Given the description of an element on the screen output the (x, y) to click on. 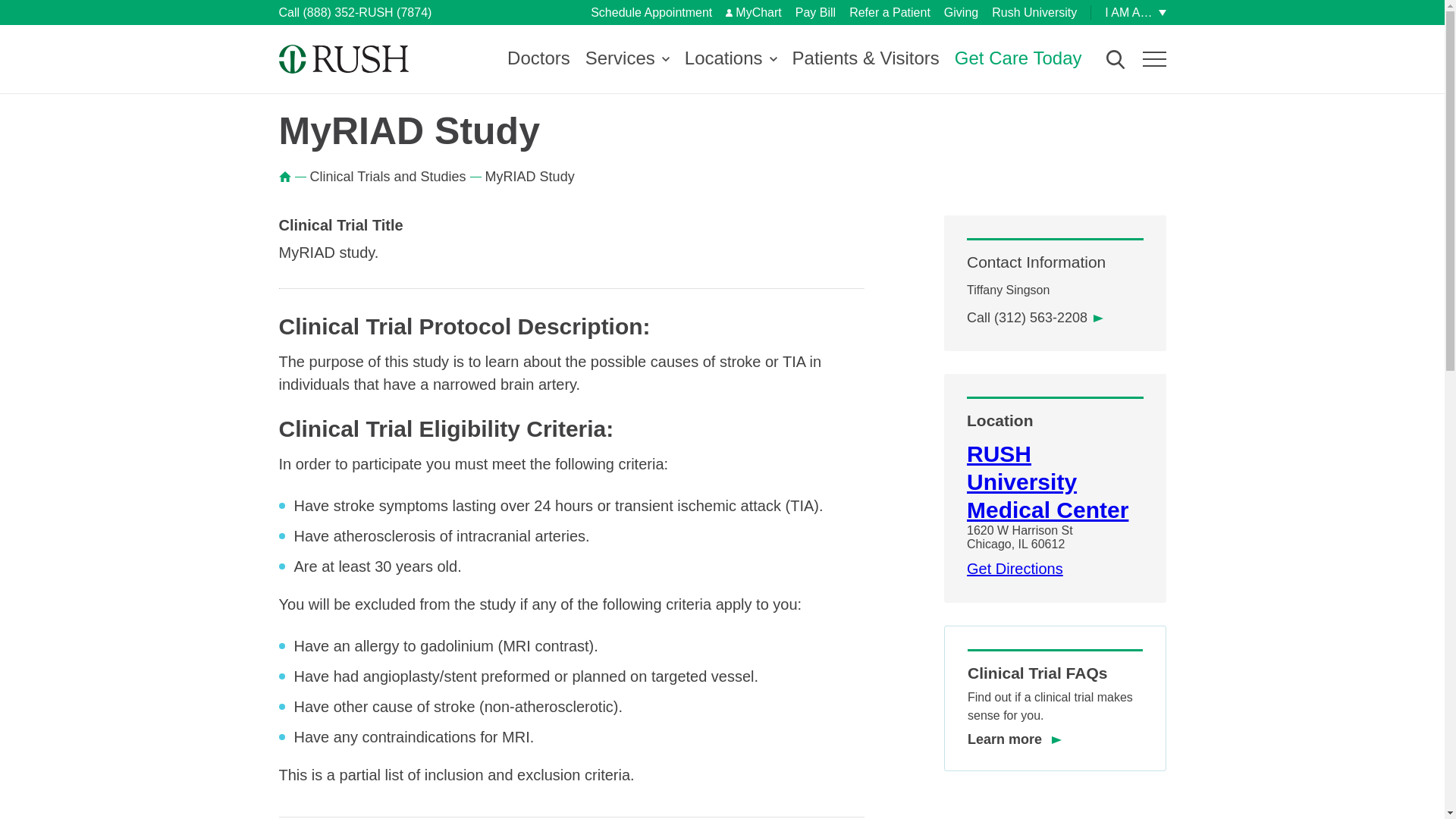
Rush University (1034, 11)
Pay Bill (814, 11)
MyChart (752, 11)
Giving (960, 11)
Refer a Patient (889, 11)
Schedule Appointment (651, 11)
